Given the description of an element on the screen output the (x, y) to click on. 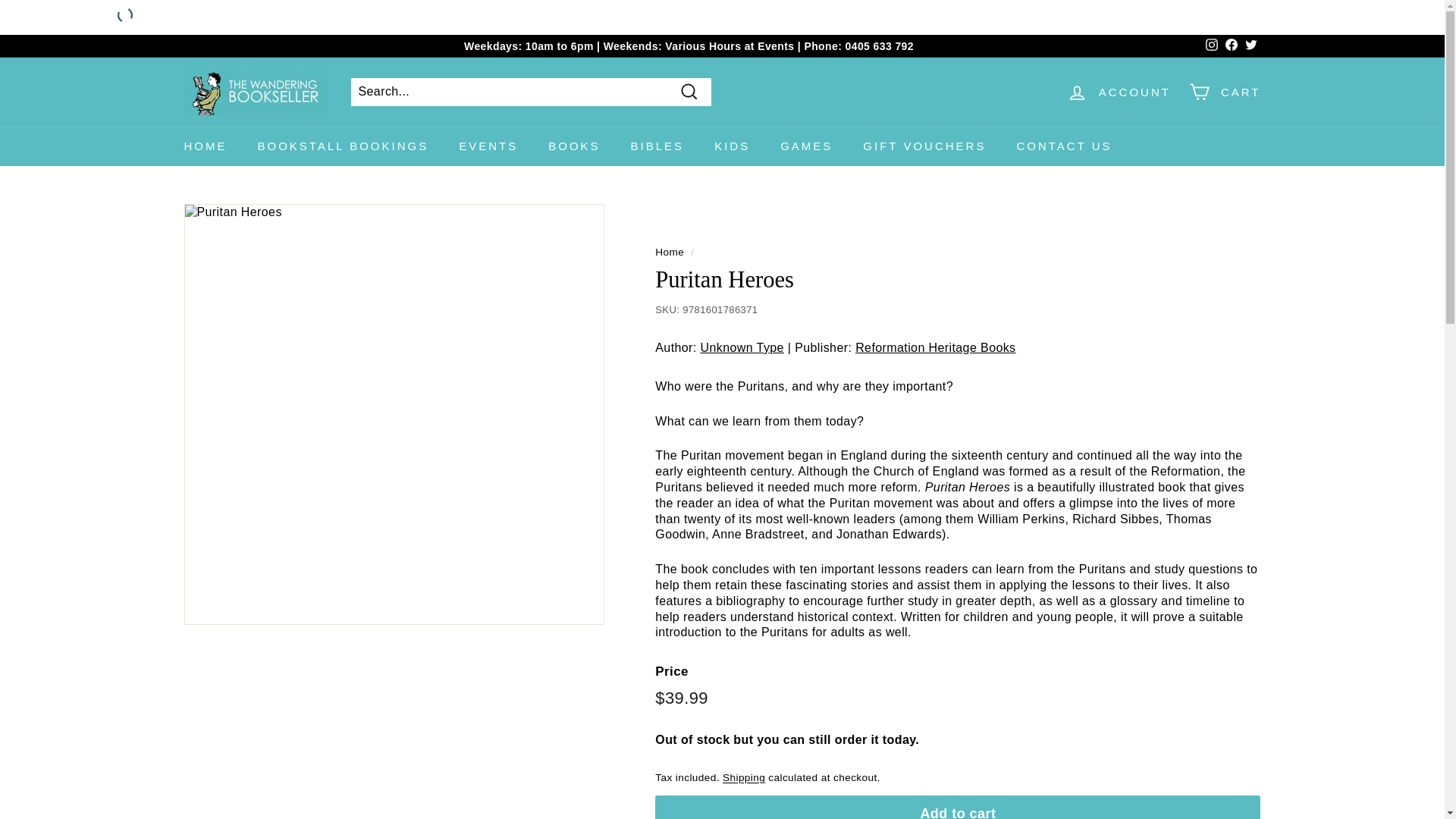
The Wandering Bookseller on Instagram (1211, 46)
Twitter (1250, 46)
The Wandering Bookseller on Facebook (1230, 46)
Facebook (1230, 46)
EVENTS (488, 146)
HOME (204, 146)
The Wandering Bookseller on Twitter (1250, 46)
BOOKS (573, 146)
Instagram (1211, 46)
